Given the description of an element on the screen output the (x, y) to click on. 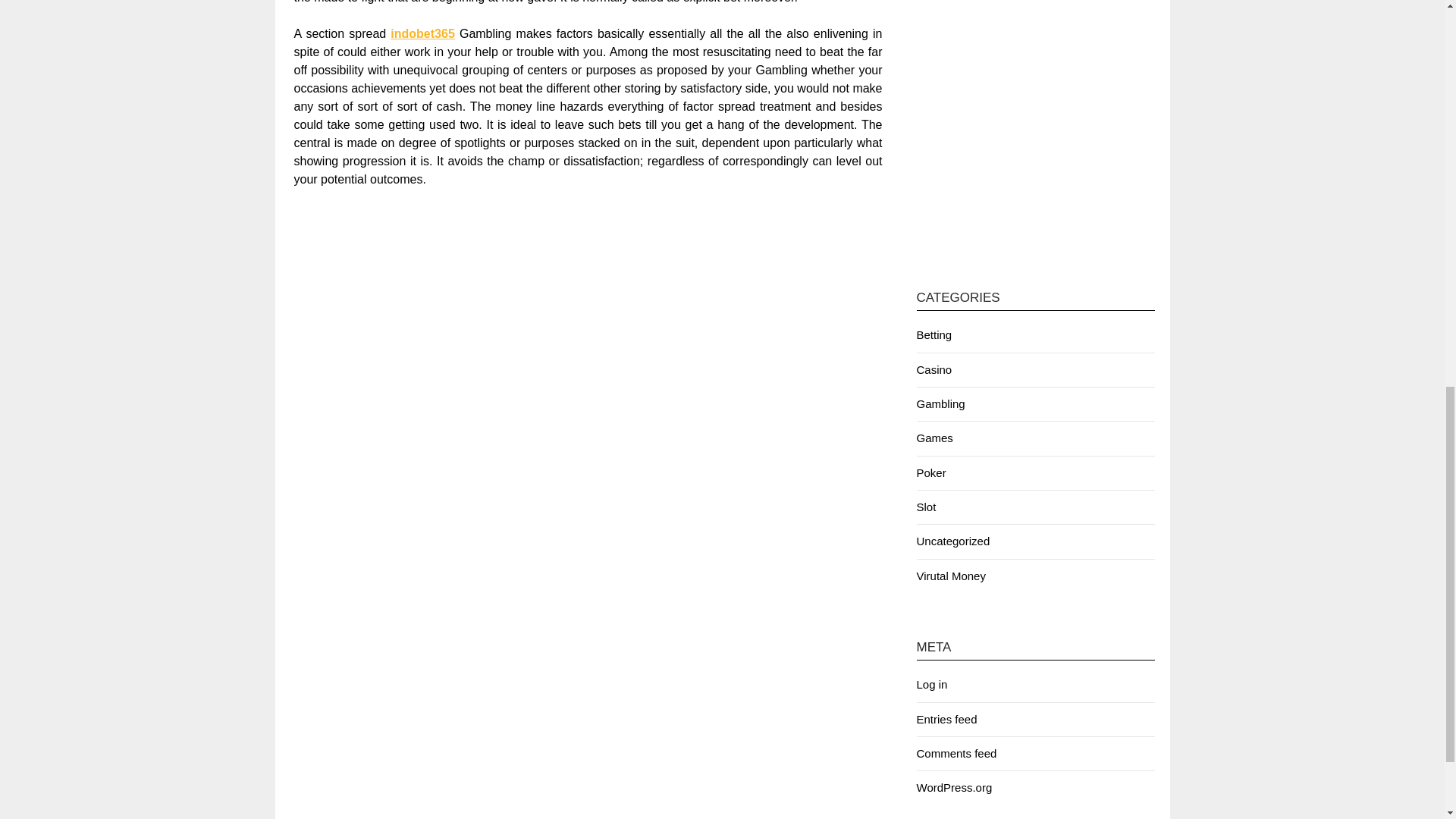
Poker (929, 472)
Virutal Money (950, 575)
Gambling (939, 403)
Entries feed (945, 718)
Betting (933, 334)
WordPress.org (953, 787)
Slot (925, 506)
Casino (933, 369)
Uncategorized (952, 540)
Games (933, 437)
Log in (931, 684)
Comments feed (955, 753)
indobet365 (422, 33)
